Given the description of an element on the screen output the (x, y) to click on. 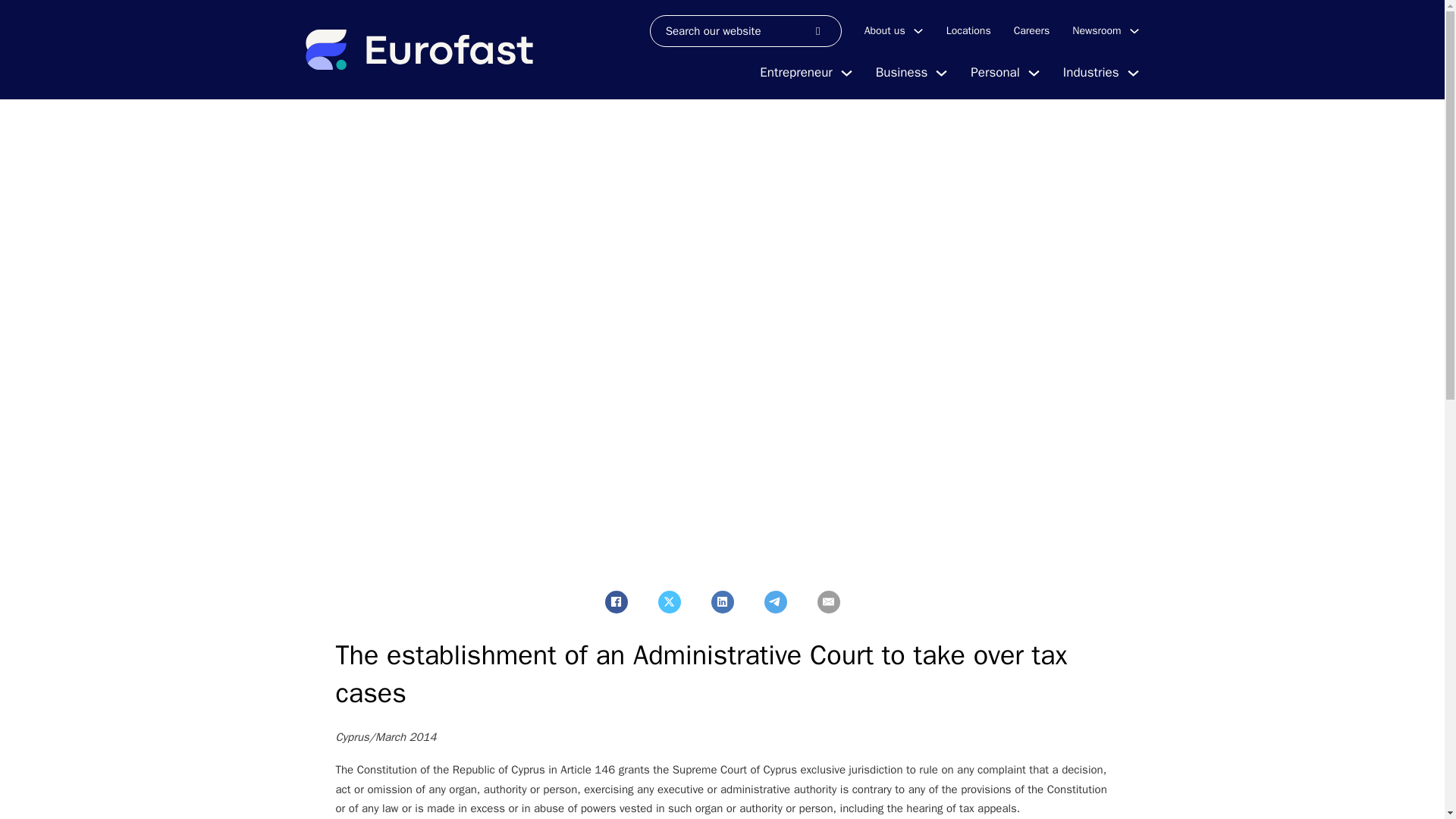
Careers (1031, 31)
Locations (968, 31)
Entrepreneur (795, 73)
Newsroom (1096, 31)
About us (884, 31)
